Given the description of an element on the screen output the (x, y) to click on. 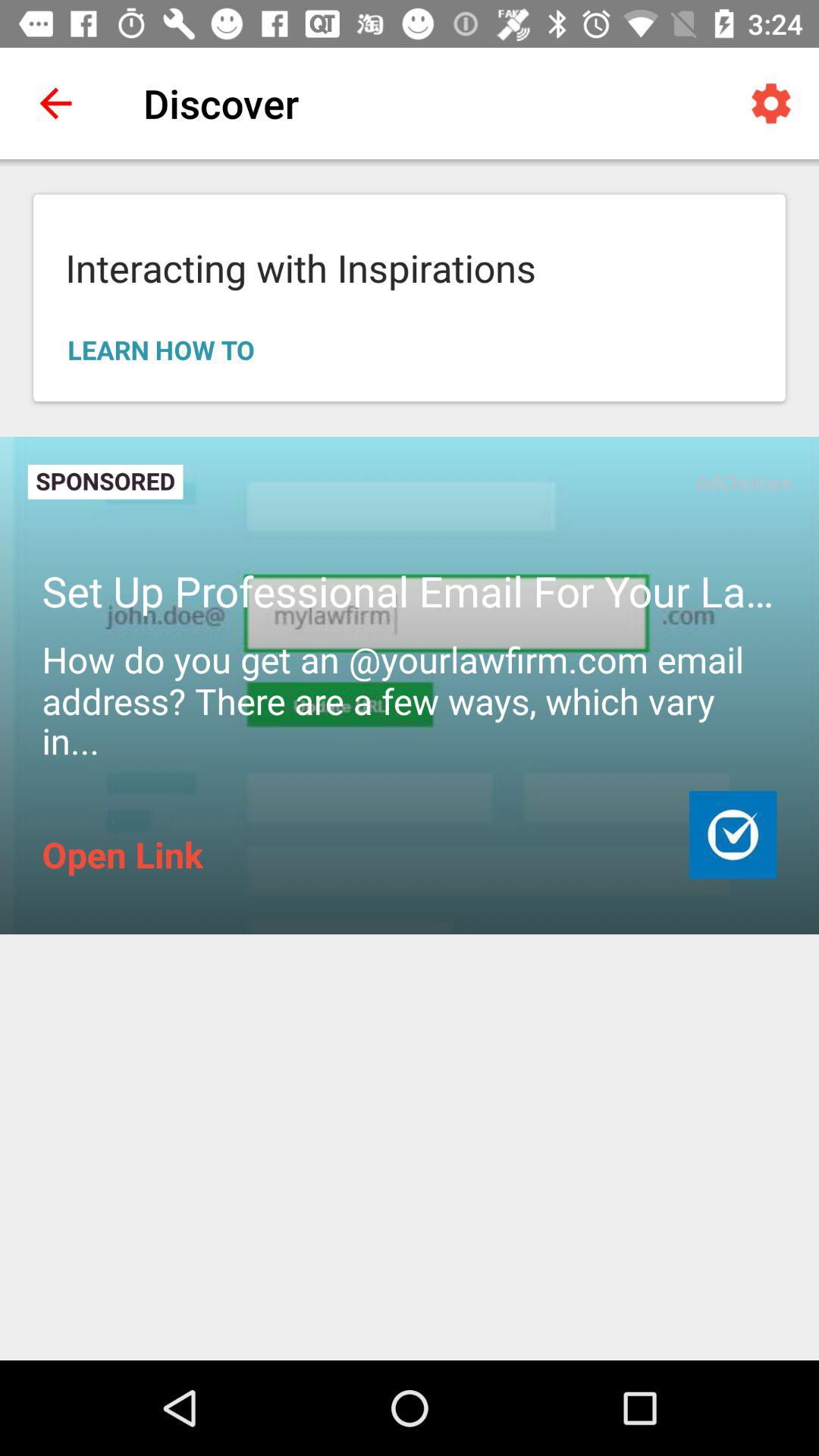
select the tick button which is on right side of the page (733, 834)
